Given the description of an element on the screen output the (x, y) to click on. 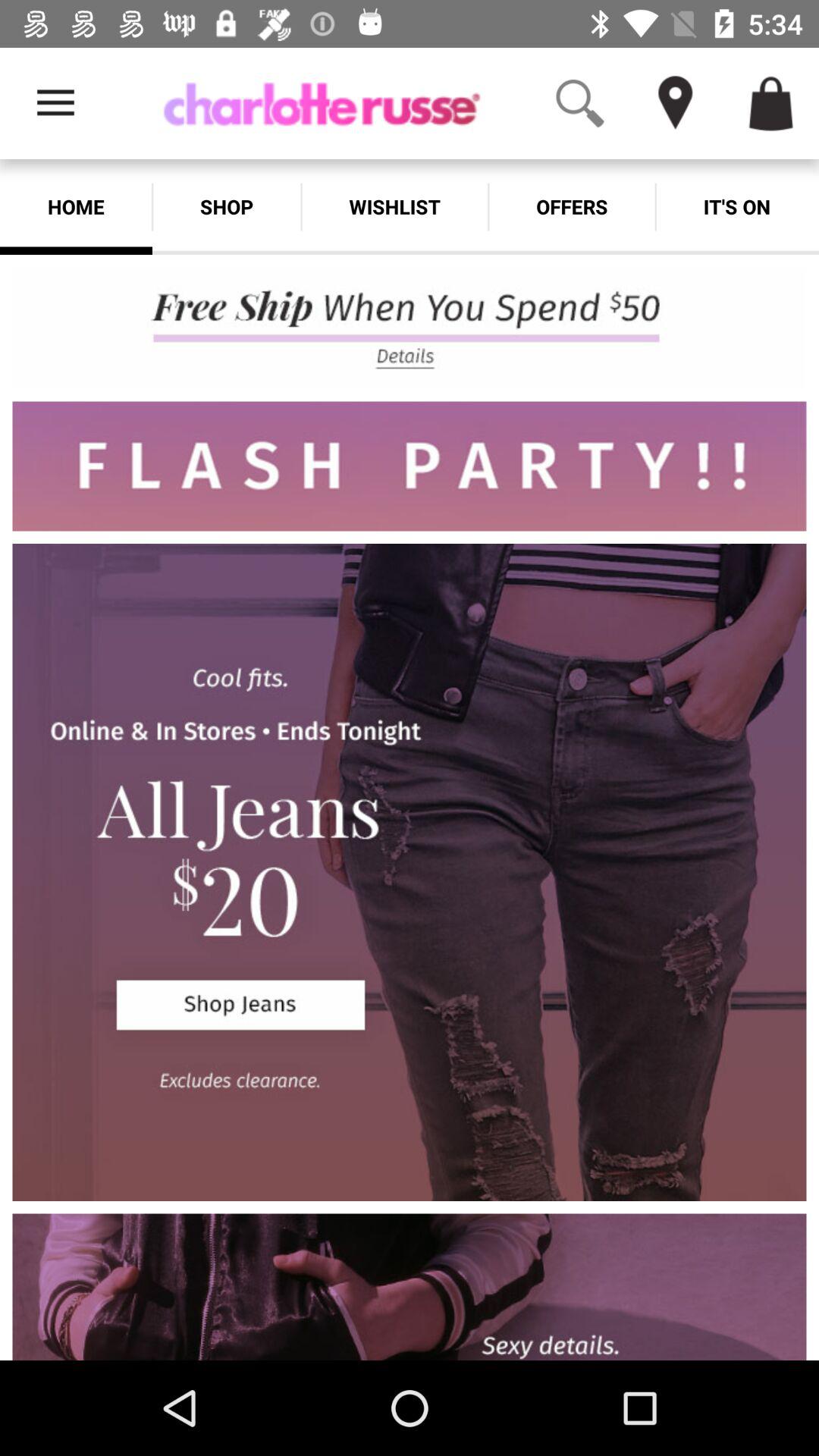
press icon next to shop (76, 206)
